Given the description of an element on the screen output the (x, y) to click on. 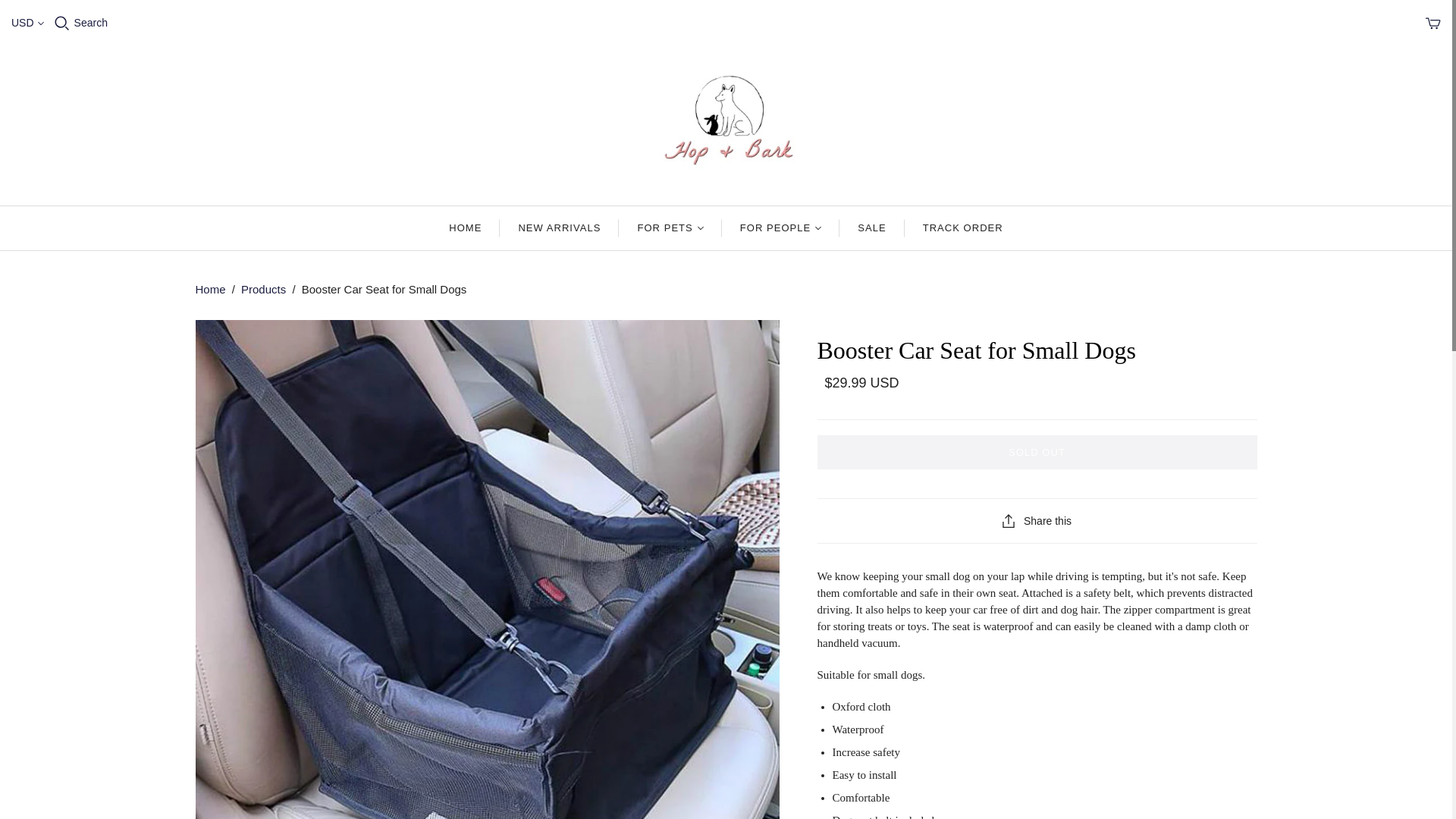
NEW ARRIVALS (558, 228)
FOR PETS (669, 228)
FOR PEOPLE (781, 228)
TRACK ORDER (963, 228)
HOME (464, 228)
SALE (872, 228)
